Given the description of an element on the screen output the (x, y) to click on. 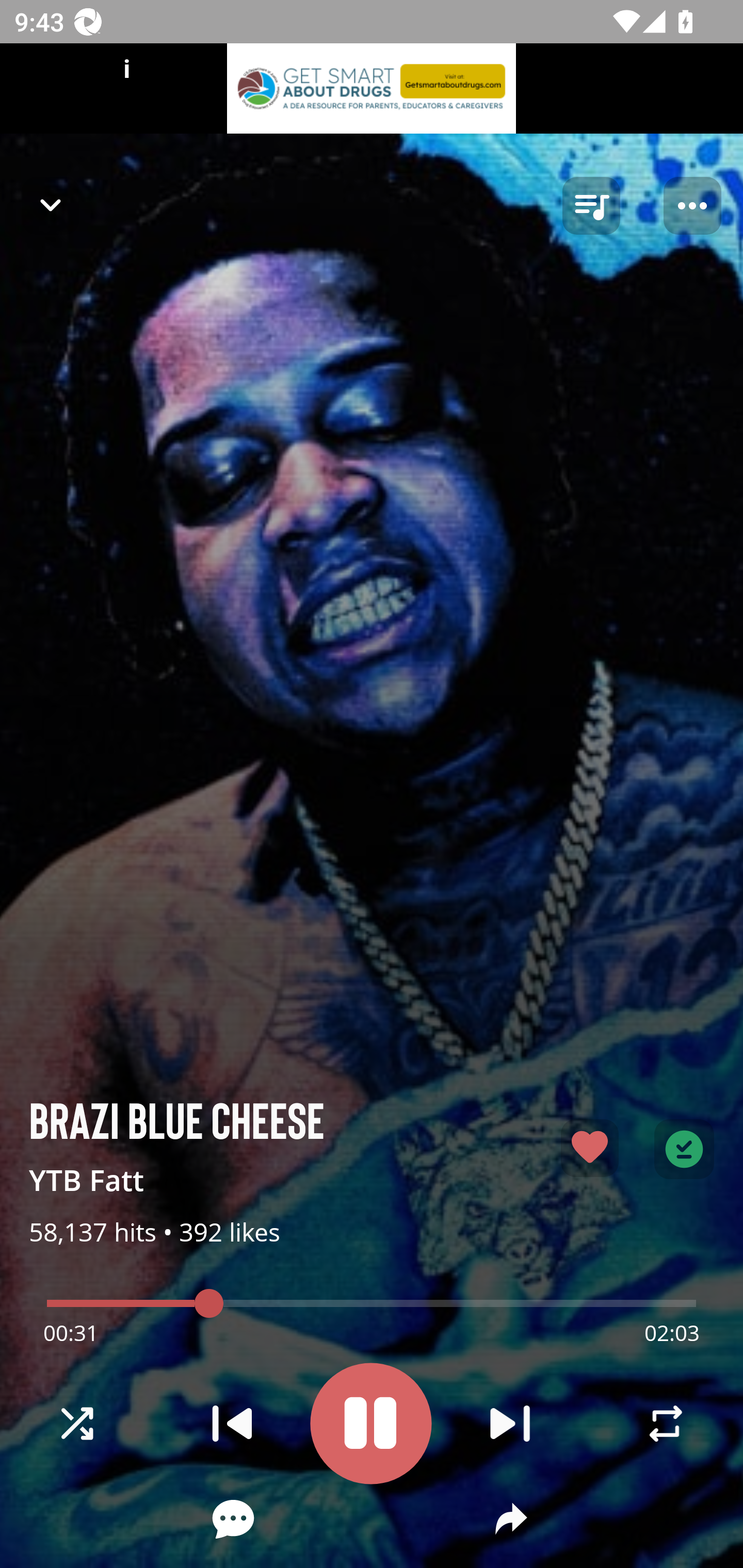
Navigate up (50, 205)
queue (590, 206)
Player options (692, 206)
